Given the description of an element on the screen output the (x, y) to click on. 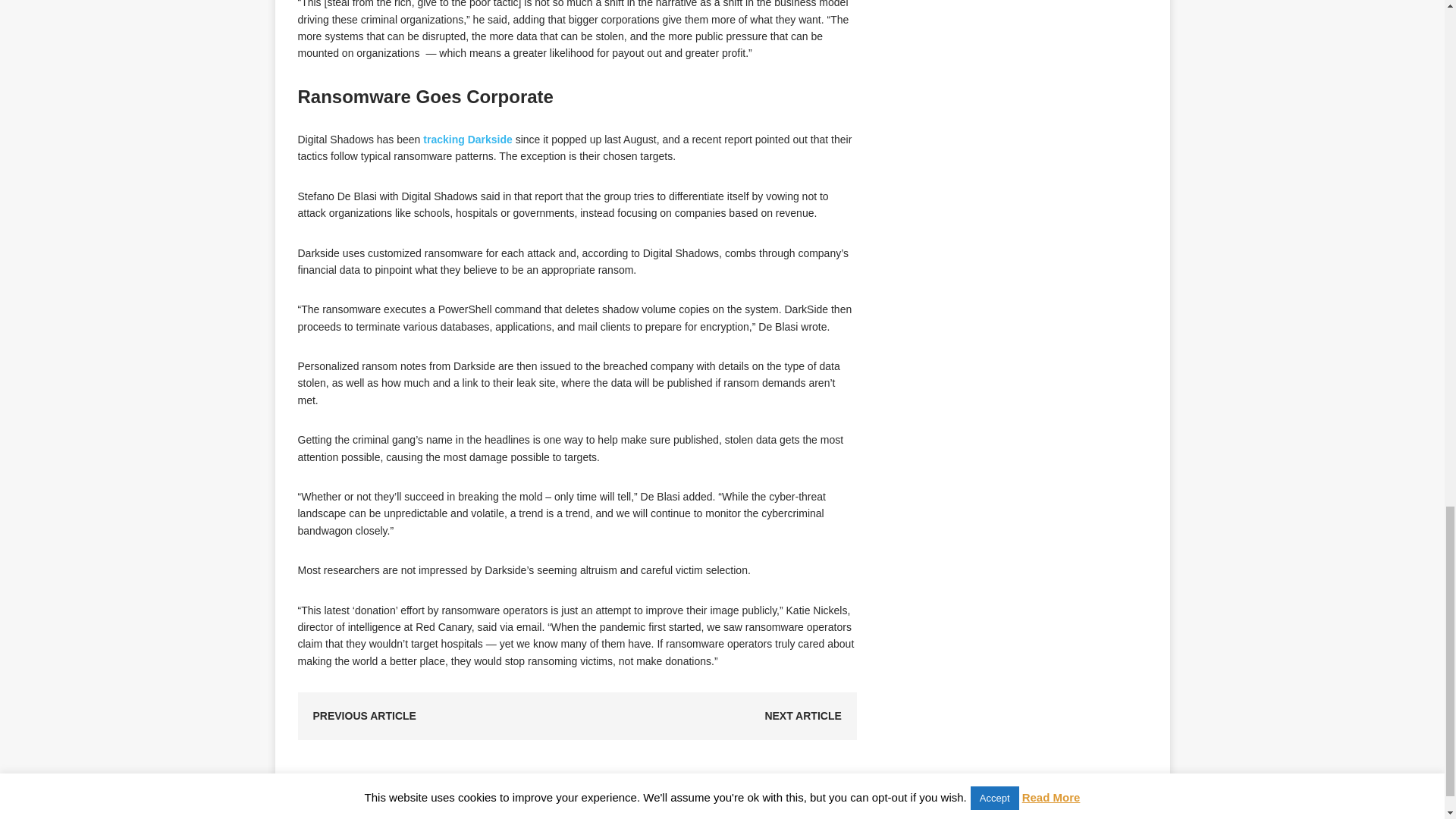
tracking Darkside (467, 139)
PREVIOUS ARTICLE (363, 715)
Cybersigna (473, 808)
NEXT ARTICLE (802, 715)
